Given the description of an element on the screen output the (x, y) to click on. 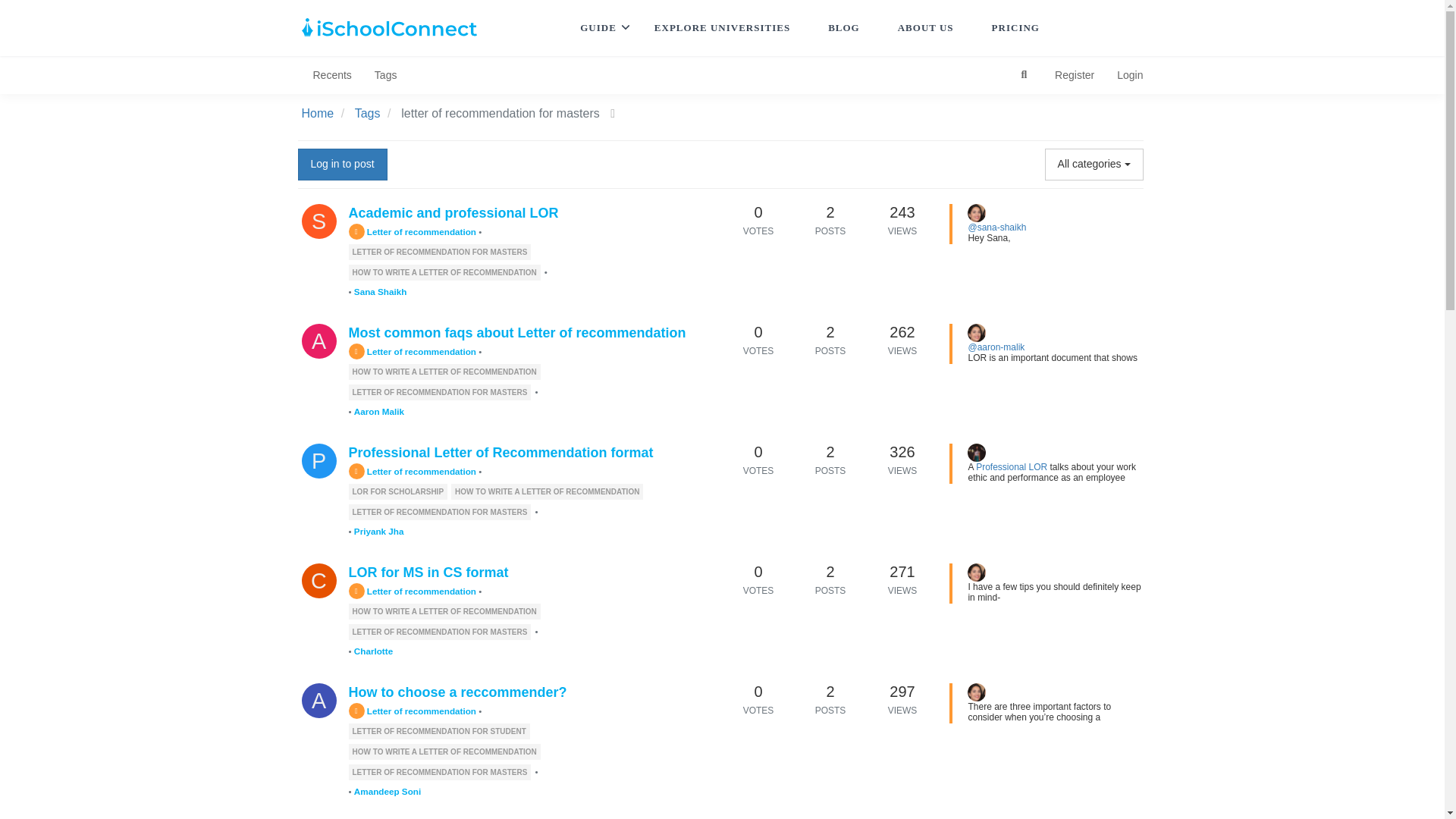
243 (901, 211)
GUIDE (598, 28)
Search (1023, 74)
Tags (367, 113)
Sana Shaikh (318, 221)
Recents (331, 75)
Home (317, 113)
Aaron Malik (318, 340)
Register (1074, 75)
ChristineJoseph (976, 212)
